Given the description of an element on the screen output the (x, y) to click on. 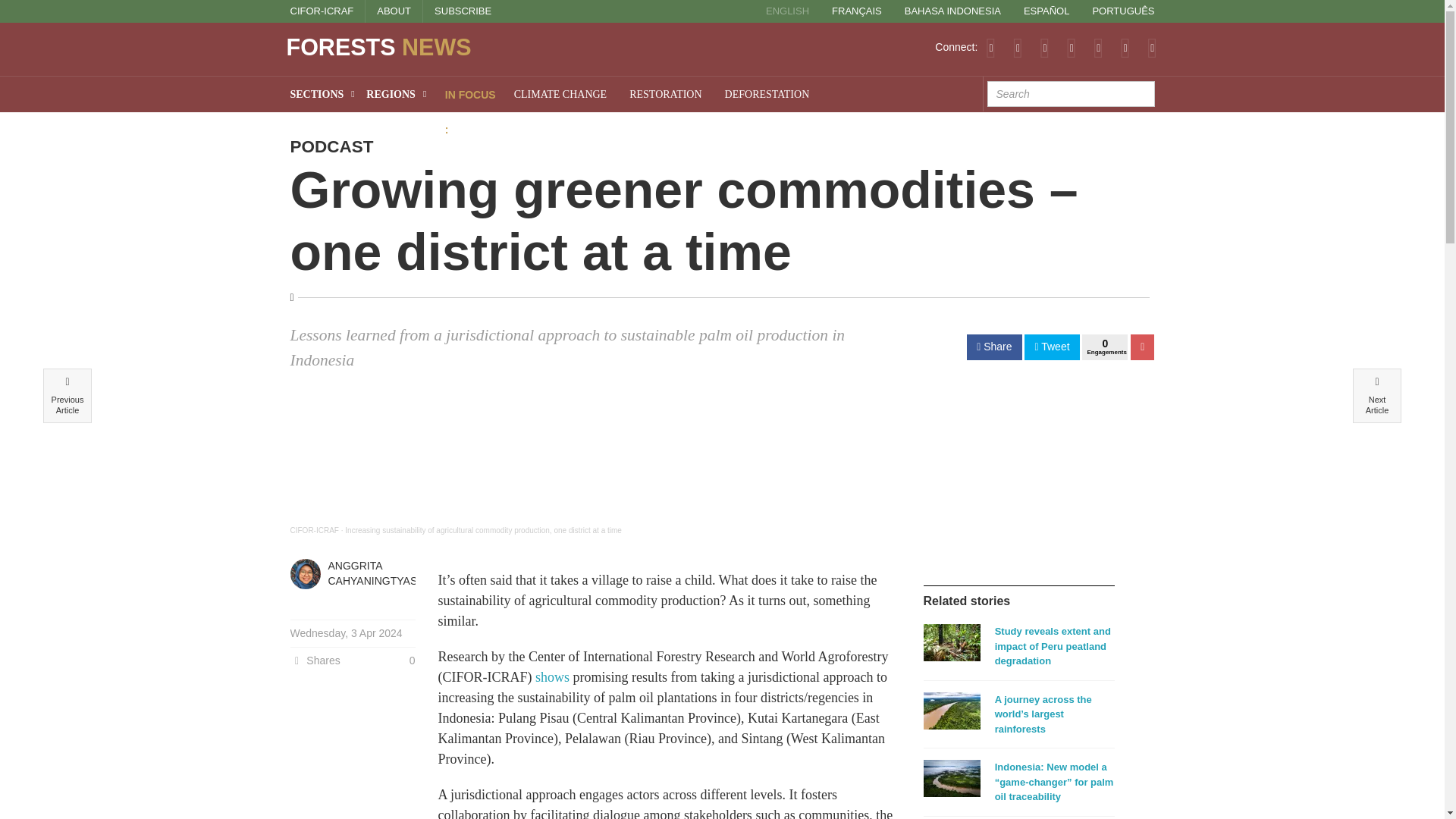
Instagram (1125, 46)
Share on Facebook (994, 347)
Feed (990, 46)
Twitter (1017, 46)
Facebook (1044, 46)
CIFOR-ICRAF (321, 10)
LinkedIn (1071, 46)
Youtube (1098, 46)
ABOUT (393, 10)
BAHASA INDONESIA (952, 11)
SUBSCRIBE (462, 10)
Email (1152, 46)
ENGLISH (787, 11)
